Given the description of an element on the screen output the (x, y) to click on. 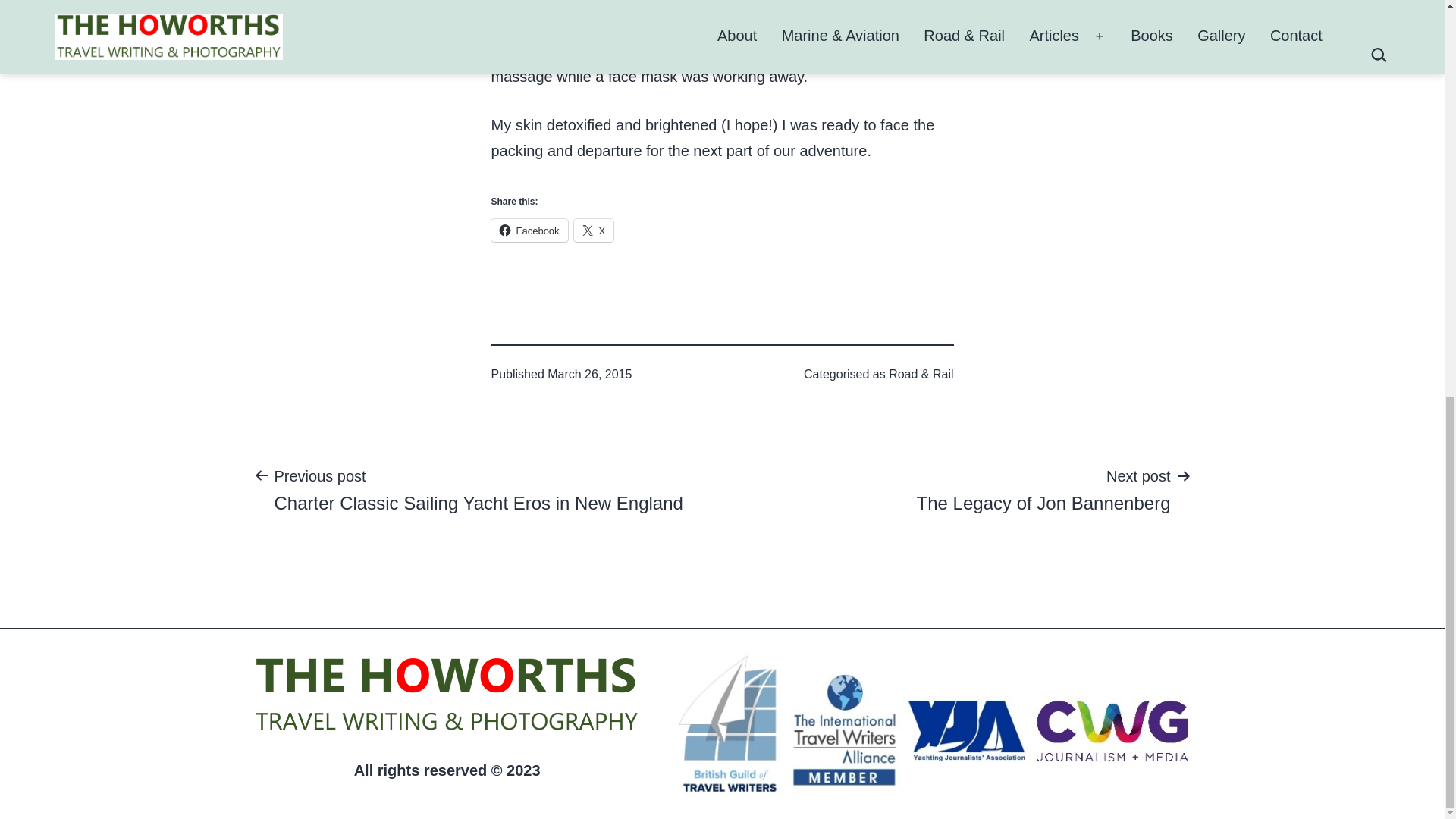
Click to share on X (593, 230)
Facebook (529, 230)
X (593, 230)
Click to share on Facebook (1043, 489)
